Given the description of an element on the screen output the (x, y) to click on. 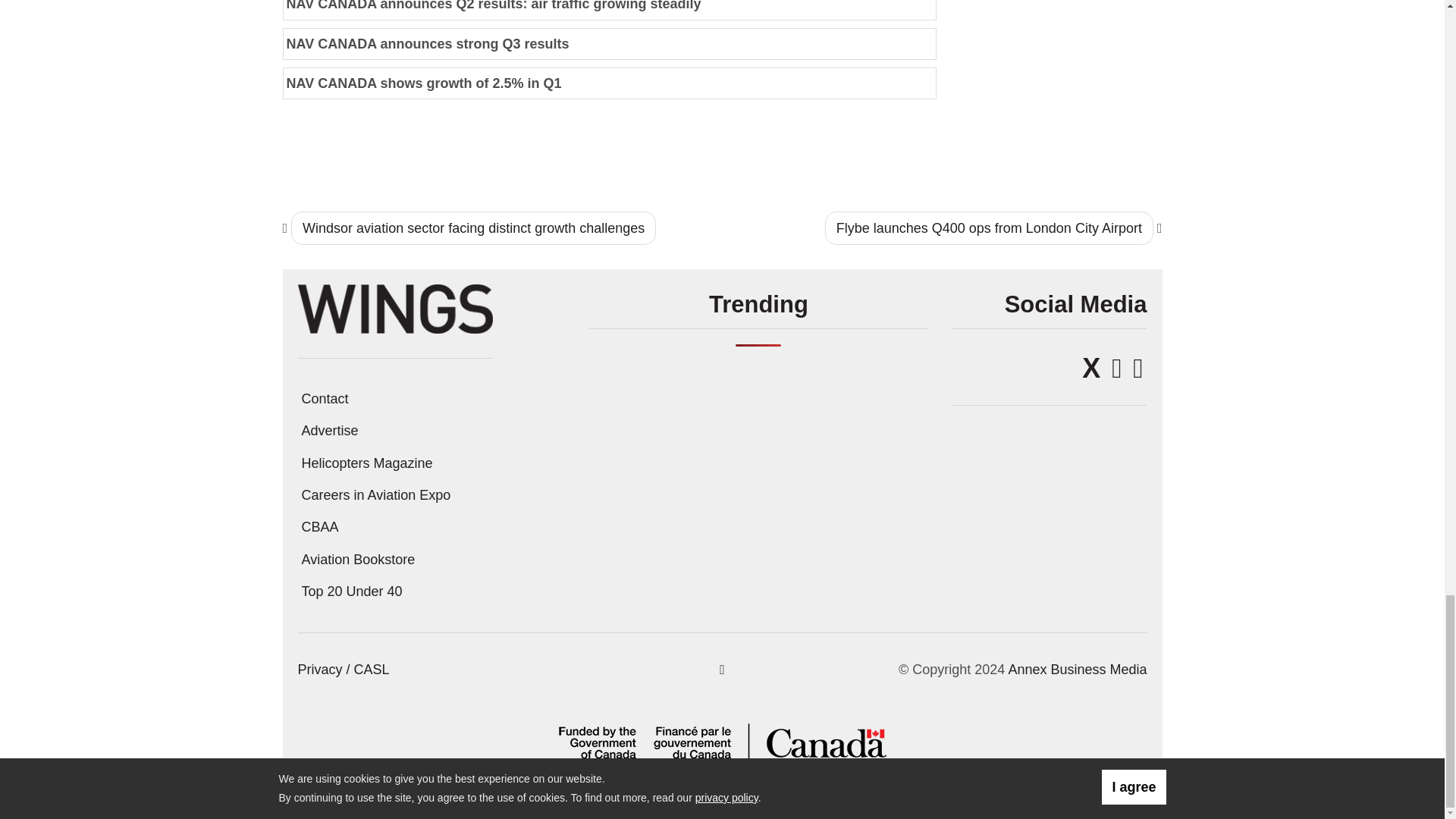
Wings Magazine (395, 307)
Annex Business Media (1077, 669)
